Given the description of an element on the screen output the (x, y) to click on. 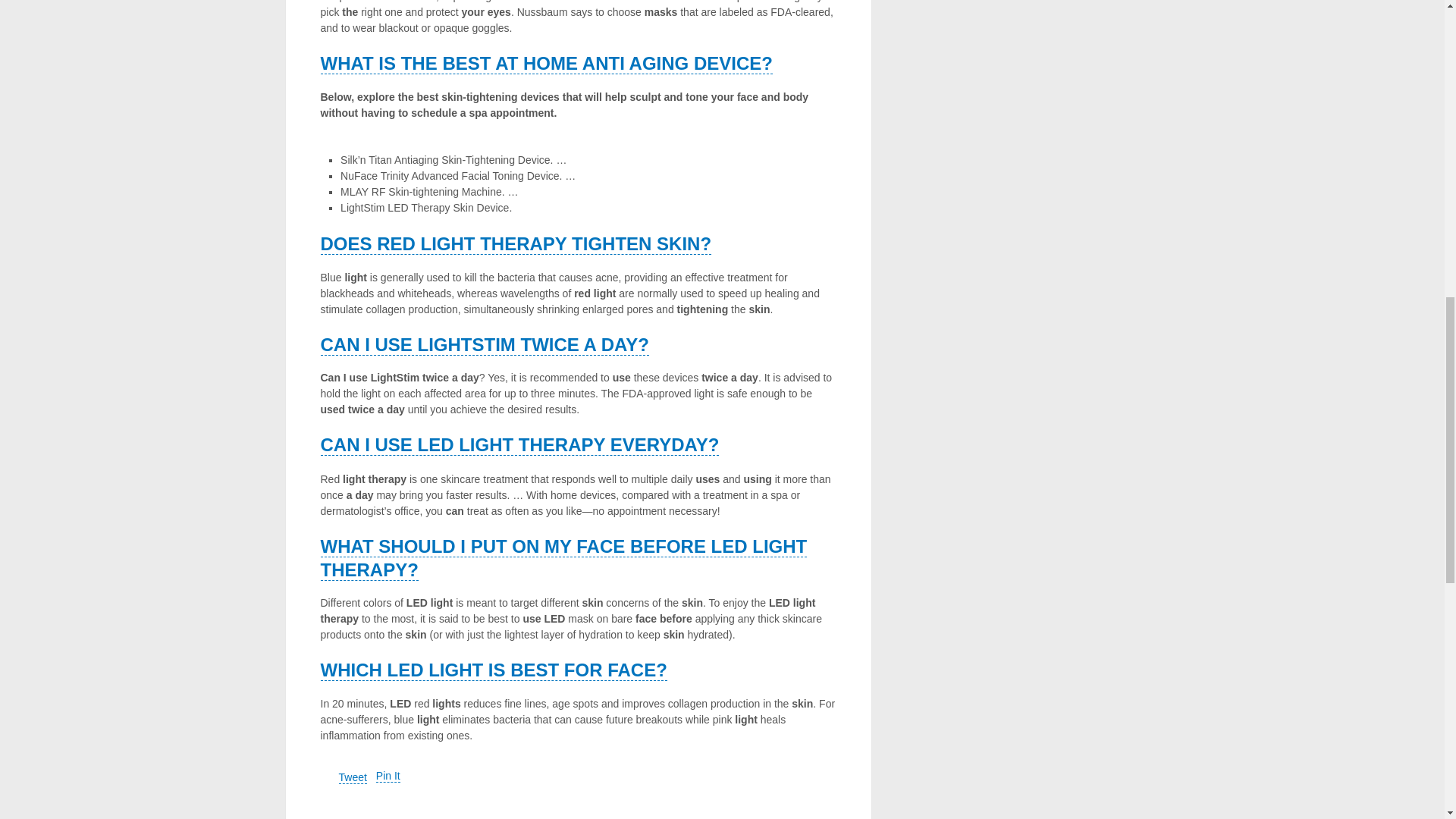
Can I use LED light therapy everyday? (519, 444)
Can I use LightStim twice a day? (483, 344)
What is the best at home anti aging device? (545, 63)
What should I put on my face before LED light therapy? (563, 558)
Does red light therapy tighten skin? (515, 243)
Which LED light is best for face? (493, 670)
